Given the description of an element on the screen output the (x, y) to click on. 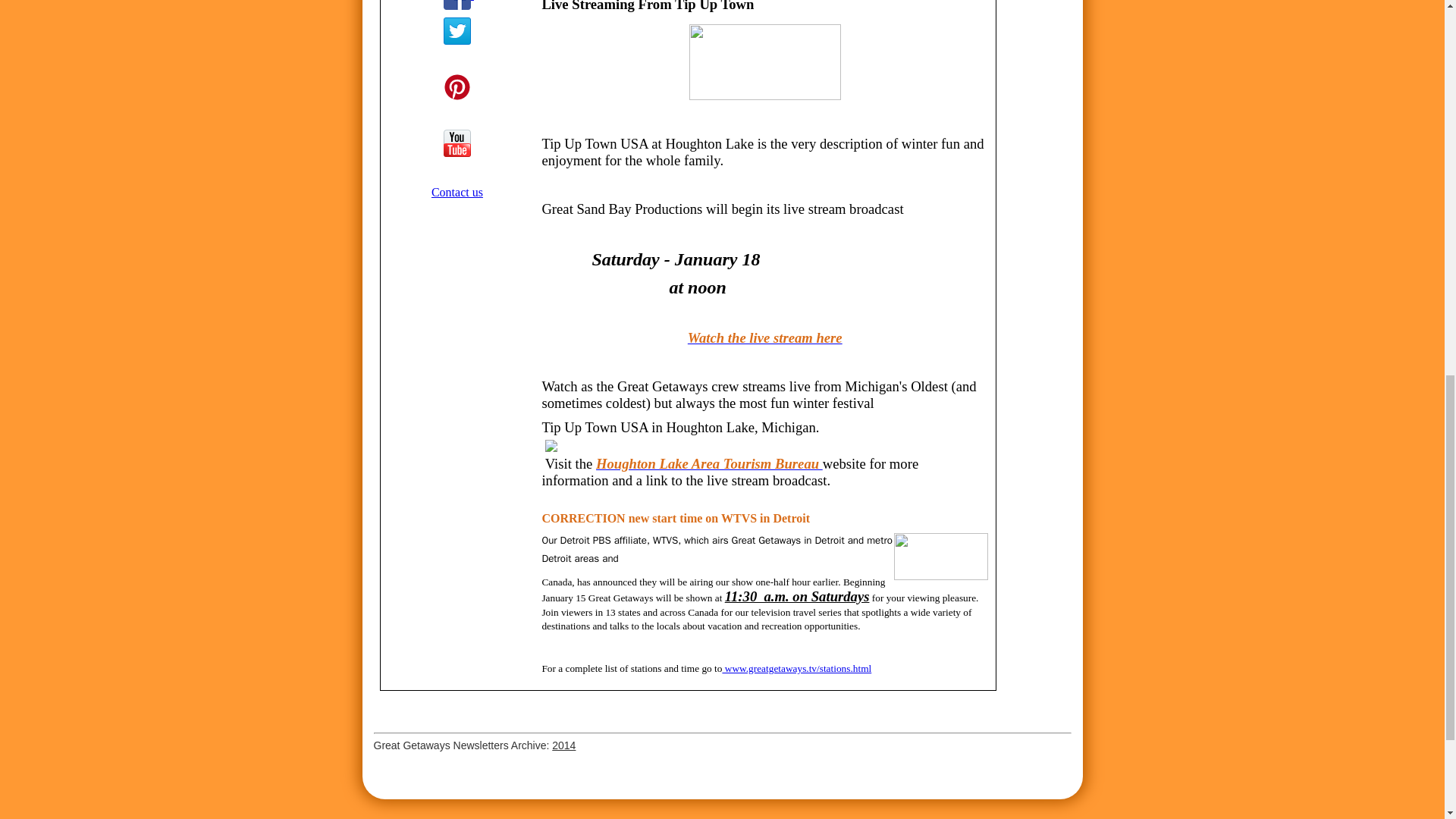
Follow us on Twitter (457, 31)
View our videos on YouTube (457, 143)
Find us on Pinterest (457, 86)
Contact us (456, 192)
Houghton Lake Area Tourism Bureau (708, 463)
2014 (563, 745)
Watch the live stream here (765, 337)
Like us on Facebook (457, 4)
